Given the description of an element on the screen output the (x, y) to click on. 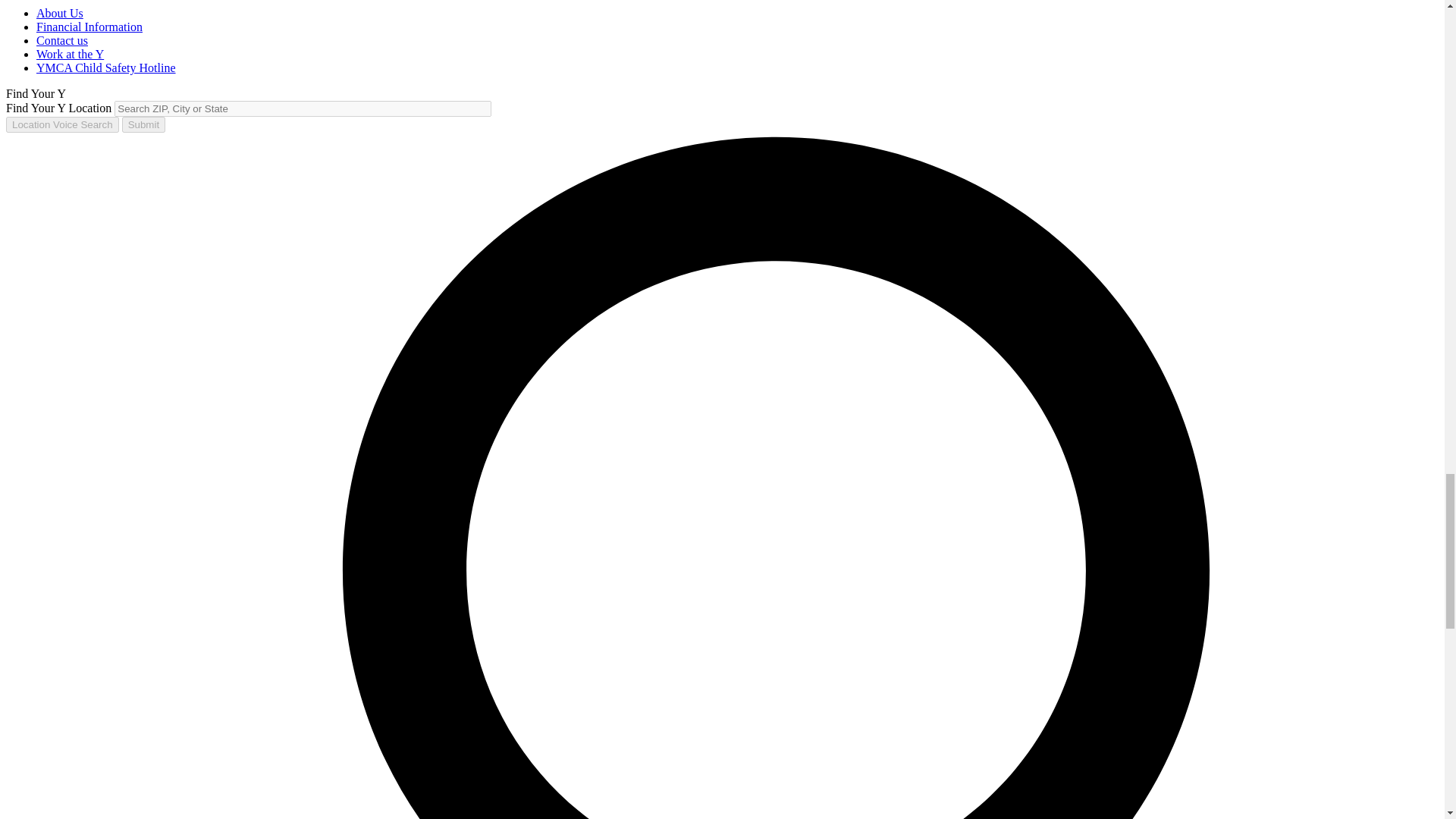
Submit (143, 124)
